Given the description of an element on the screen output the (x, y) to click on. 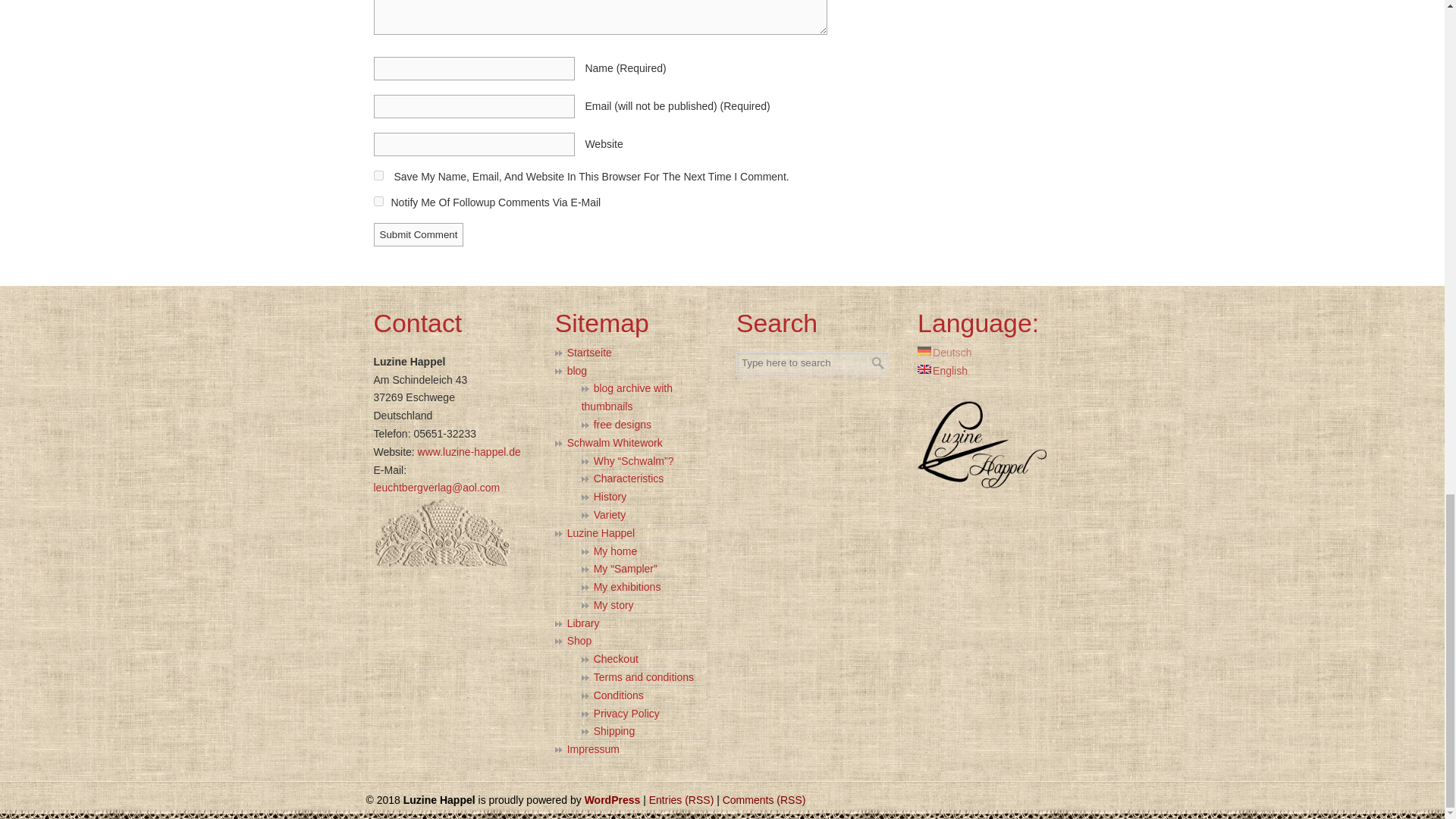
Submit Comment (417, 234)
yes (377, 175)
Luzine Happel - Logo (981, 444)
Submit Comment (417, 234)
subscribe (377, 201)
